Given the description of an element on the screen output the (x, y) to click on. 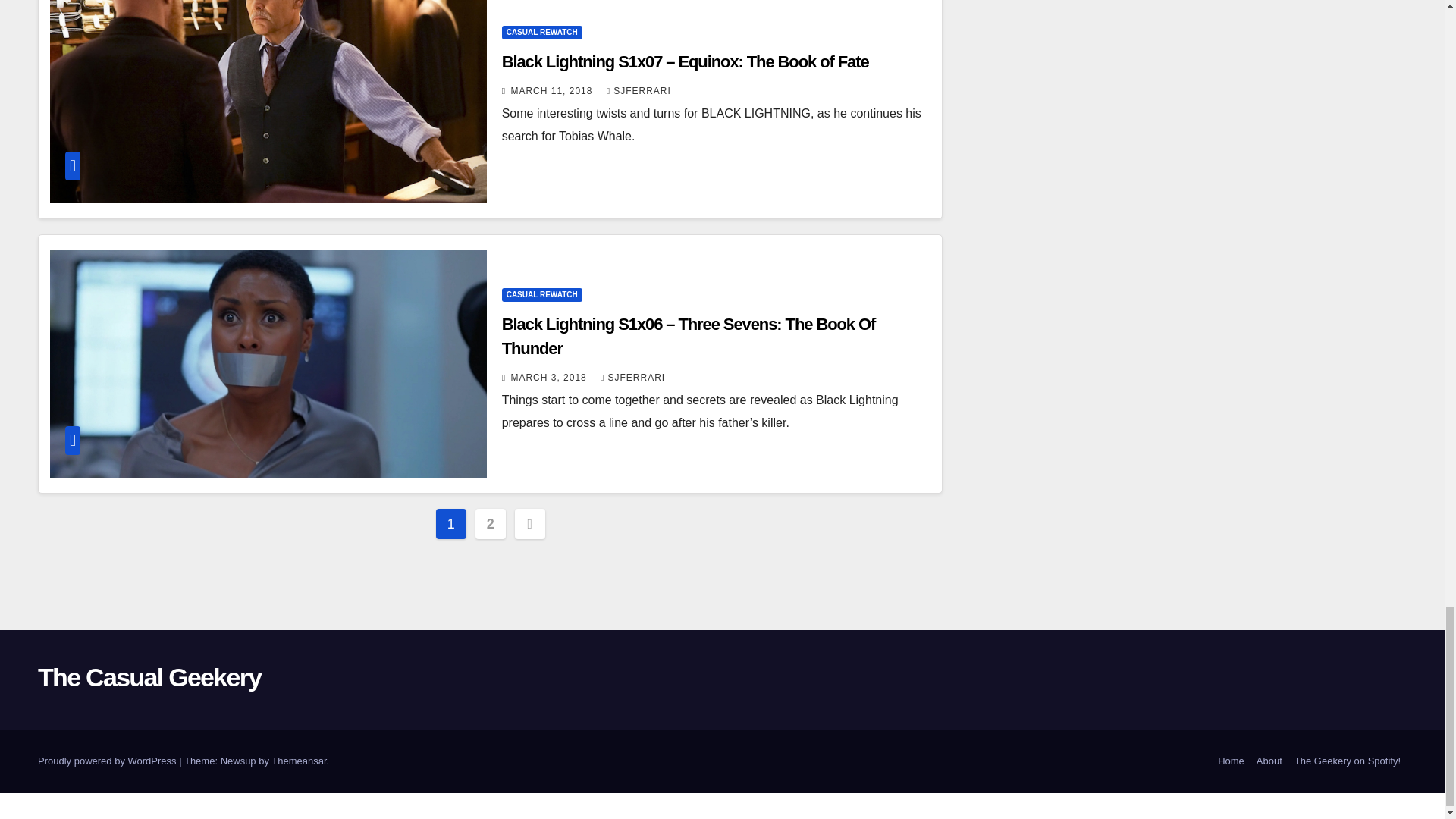
Home (1230, 760)
